Given the description of an element on the screen output the (x, y) to click on. 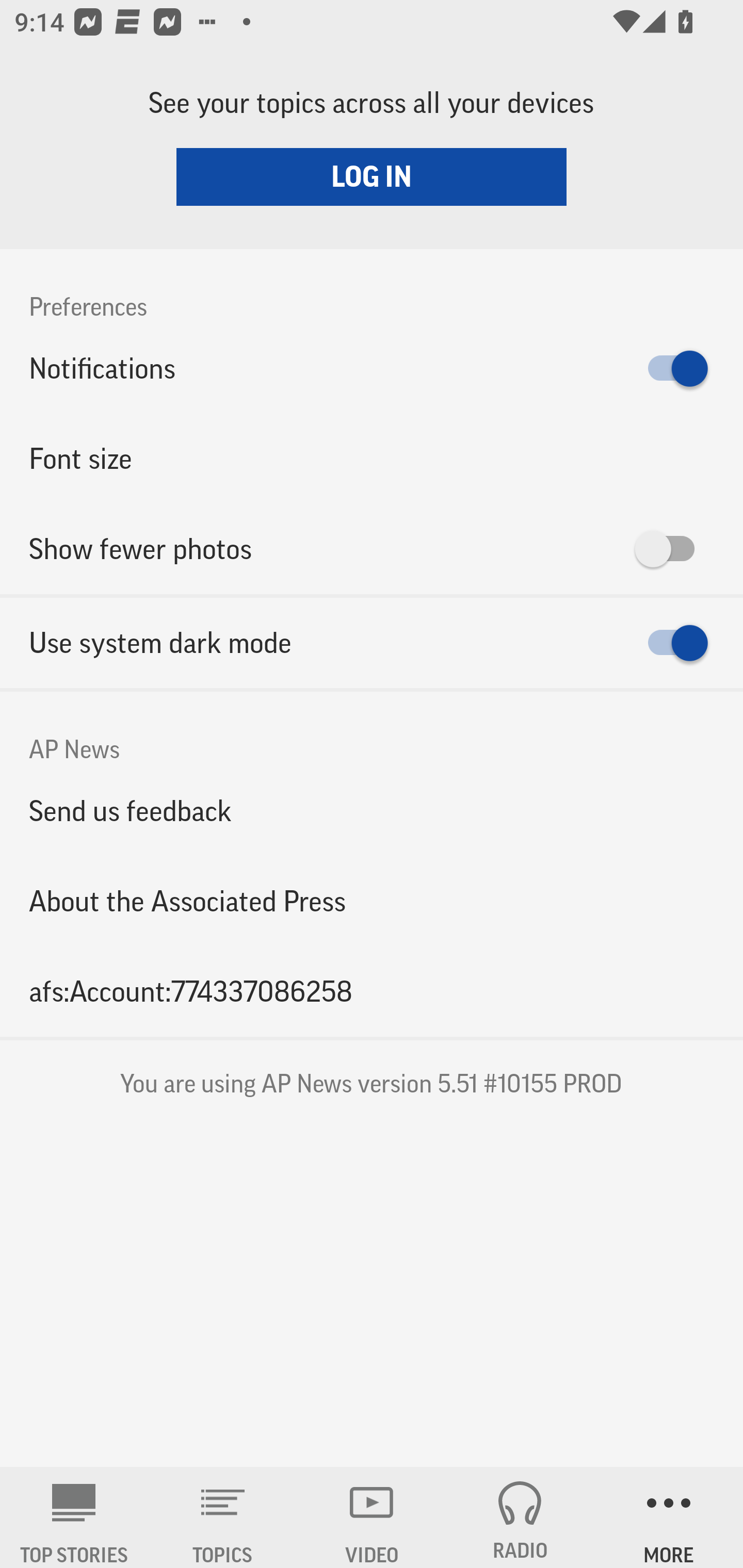
LOG IN (371, 176)
Notifications (371, 368)
Font size (371, 458)
Show fewer photos (371, 548)
Use system dark mode (371, 642)
Send us feedback (371, 810)
About the Associated Press (371, 901)
afs:Account:774337086258 (371, 991)
AP News TOP STORIES (74, 1517)
TOPICS (222, 1517)
VIDEO (371, 1517)
RADIO (519, 1517)
MORE (668, 1517)
